Given the description of an element on the screen output the (x, y) to click on. 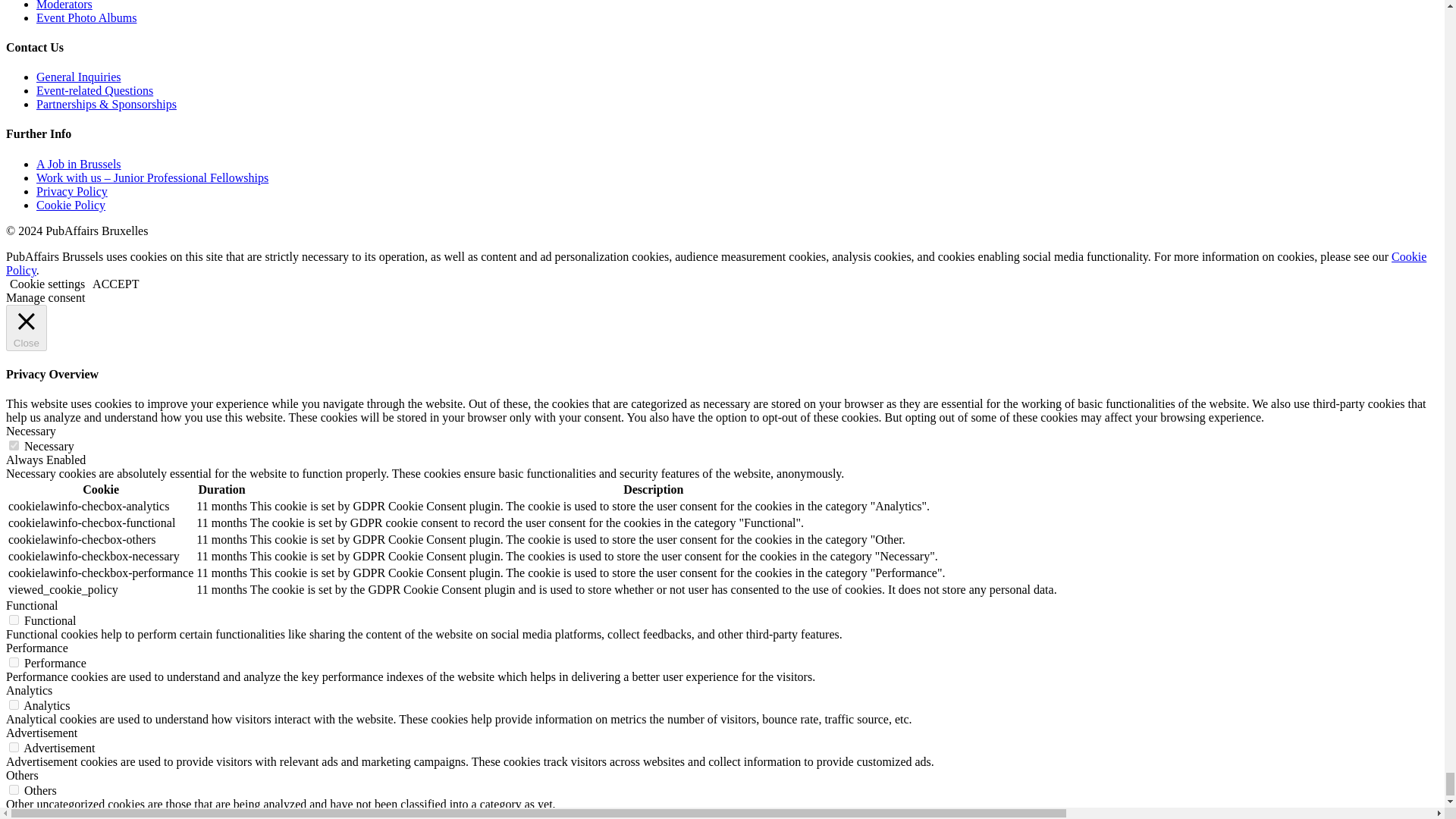
on (13, 789)
on (13, 747)
on (13, 705)
on (13, 619)
on (13, 445)
on (13, 662)
